Given the description of an element on the screen output the (x, y) to click on. 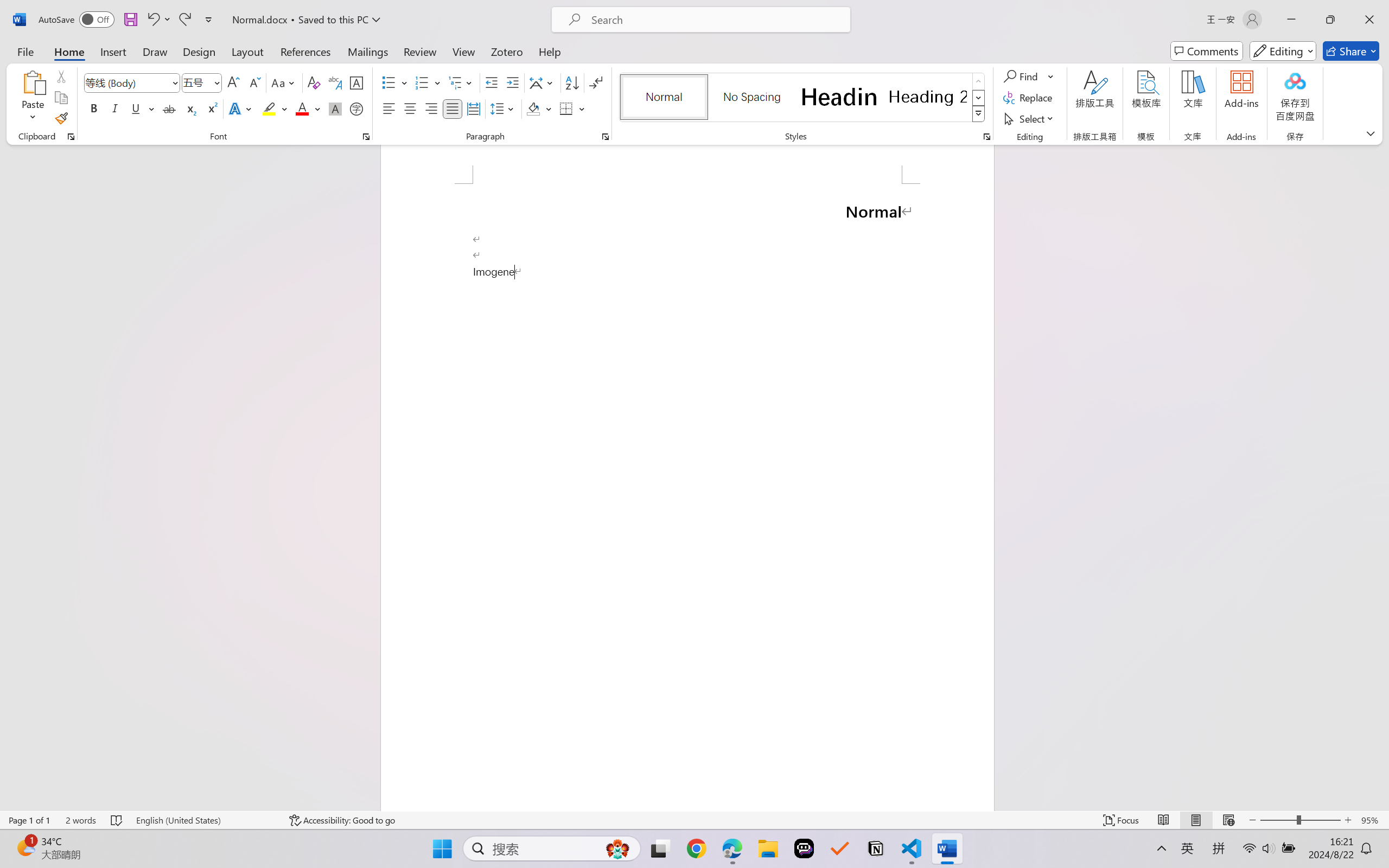
Format Painter (60, 118)
Page 1 content (687, 497)
Bold (94, 108)
Justify (452, 108)
Align Left (388, 108)
Character Border (356, 82)
Office Clipboard... (70, 136)
